Given the description of an element on the screen output the (x, y) to click on. 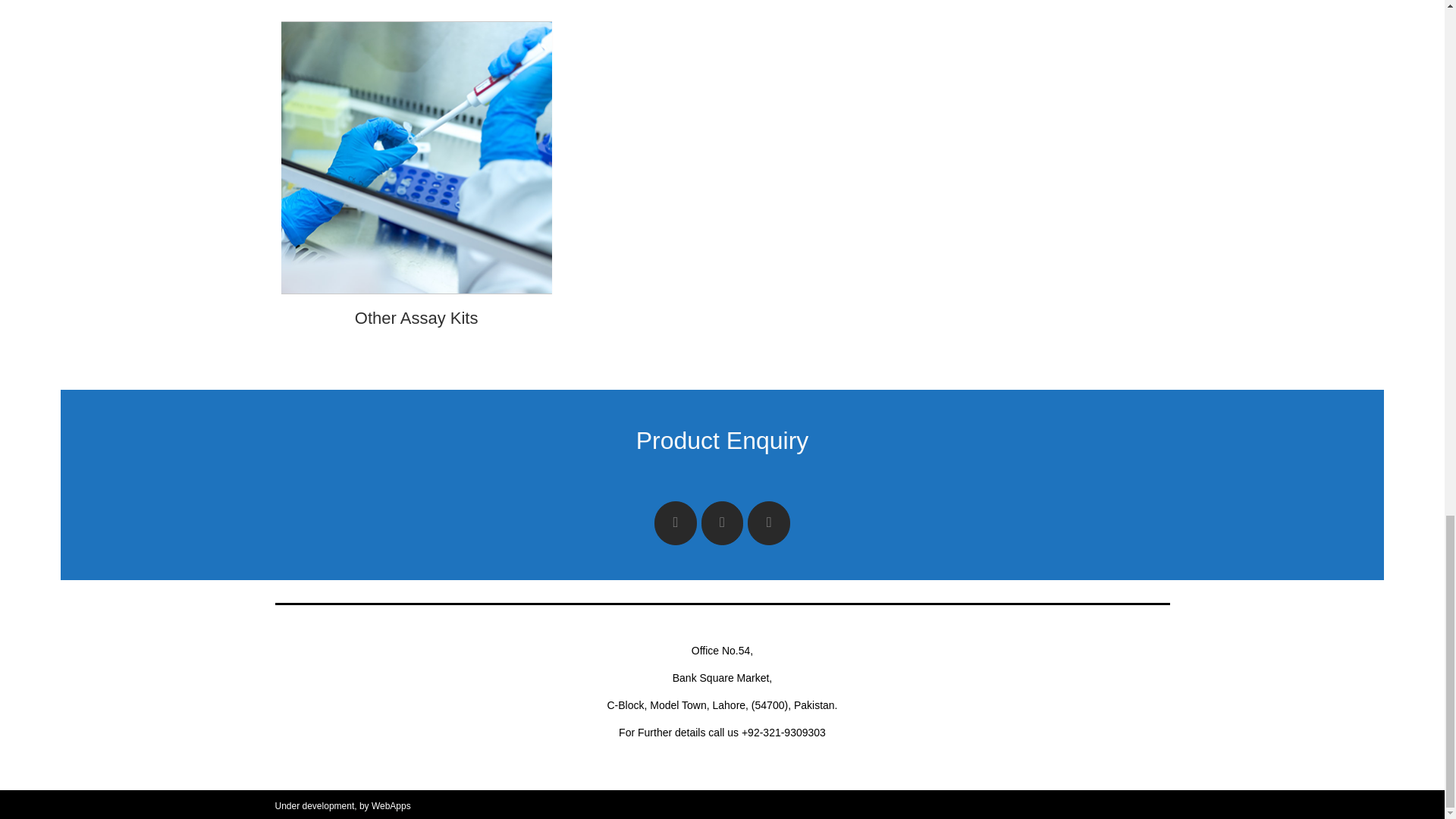
flowlineinst.com on Facebook (675, 523)
flowlineinst.com on Twitter (722, 523)
WebApps (390, 805)
Product Enquiry (722, 440)
flowlineinst.com on Pinterest (769, 523)
